Given the description of an element on the screen output the (x, y) to click on. 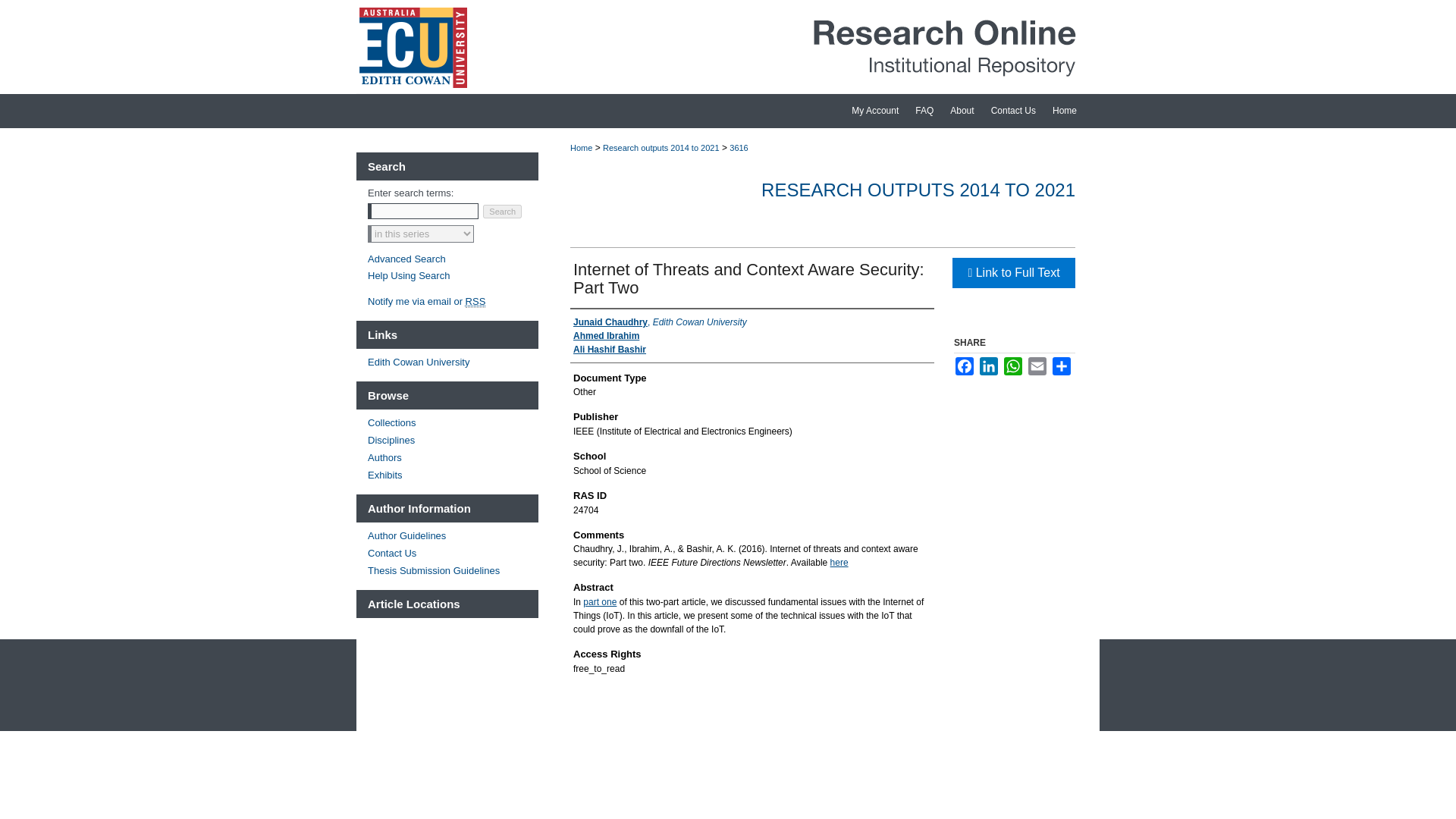
Collections (453, 422)
Facebook (964, 366)
Share (1061, 366)
Email (1037, 366)
Home (1071, 110)
LinkedIn (988, 366)
My Account (875, 110)
Home (1071, 110)
here (838, 562)
FAQ (924, 110)
3616 (738, 147)
RESEARCH OUTPUTS 2014 TO 2021 (918, 189)
Research Online (727, 47)
About (961, 110)
Help Using Search (408, 275)
